Given the description of an element on the screen output the (x, y) to click on. 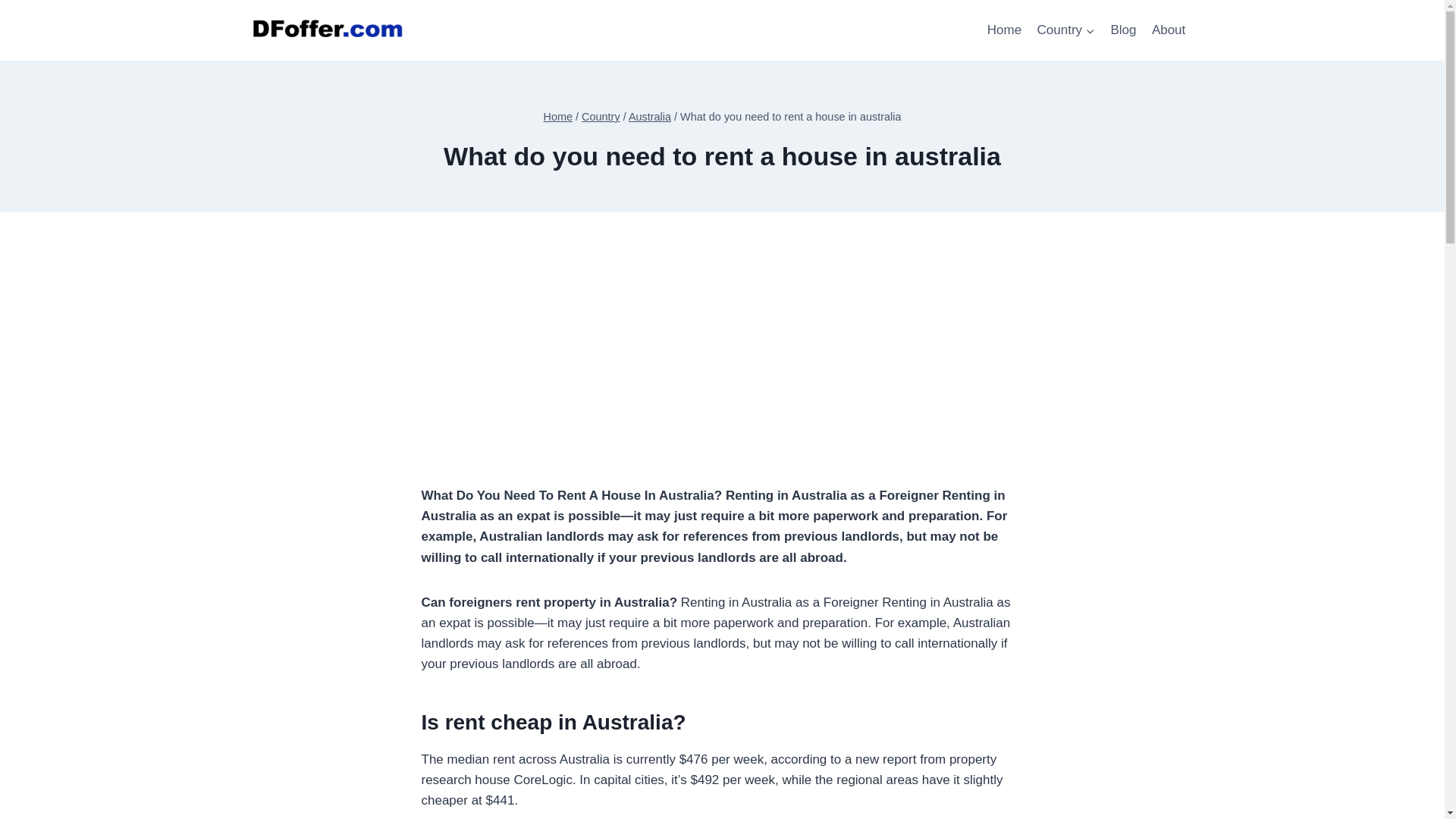
Country (1065, 30)
Blog (1122, 30)
Home (558, 116)
Home (1004, 30)
Advertisement (722, 378)
About (1168, 30)
Country (600, 116)
Australia (649, 116)
